Given the description of an element on the screen output the (x, y) to click on. 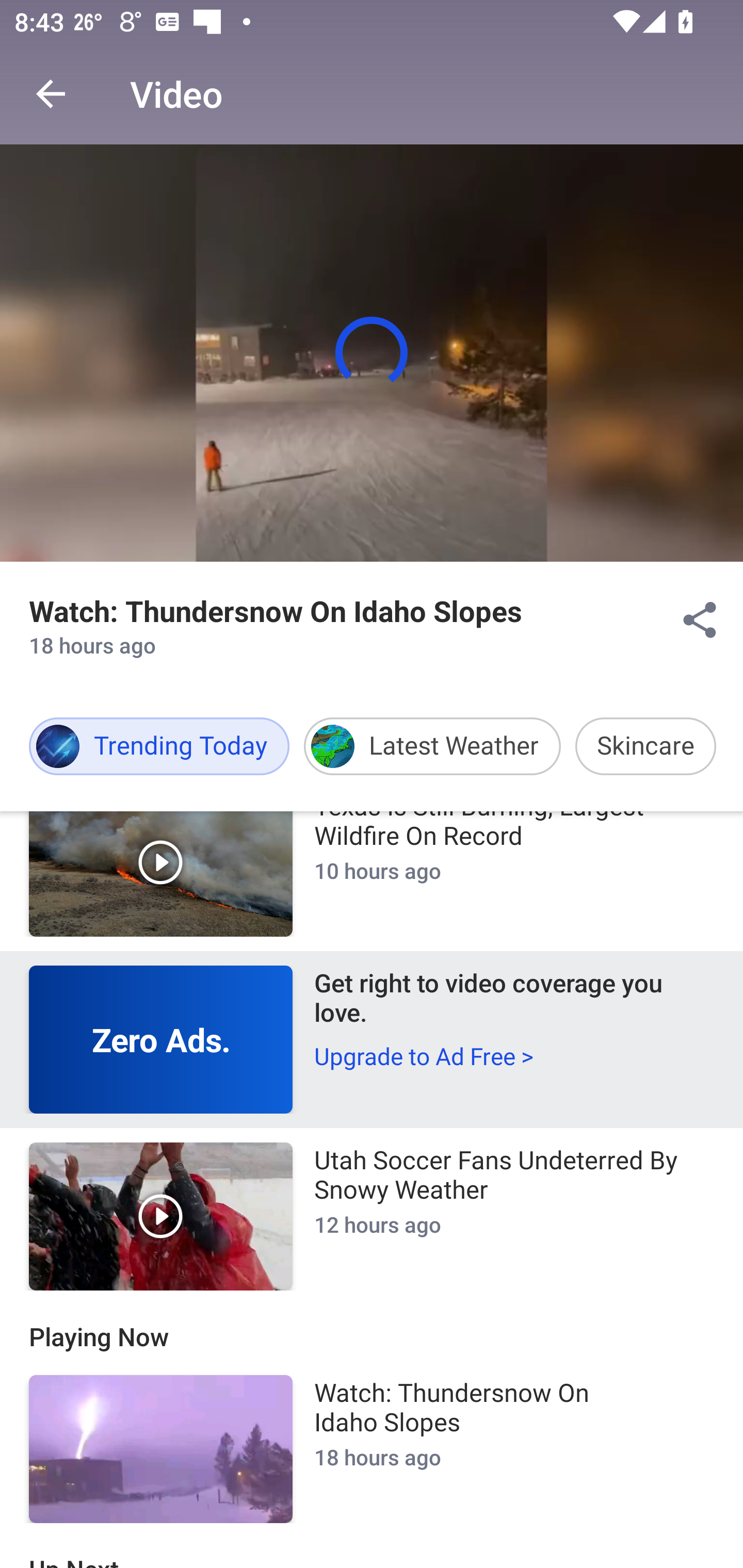
Navigate up (50, 93)
Share the Watch: Thundersnow On Idaho Slopes video (699, 620)
Trending Today (158, 746)
Latest Weather (431, 746)
Skincare (645, 746)
Play (160, 873)
Play (160, 1216)
